Given the description of an element on the screen output the (x, y) to click on. 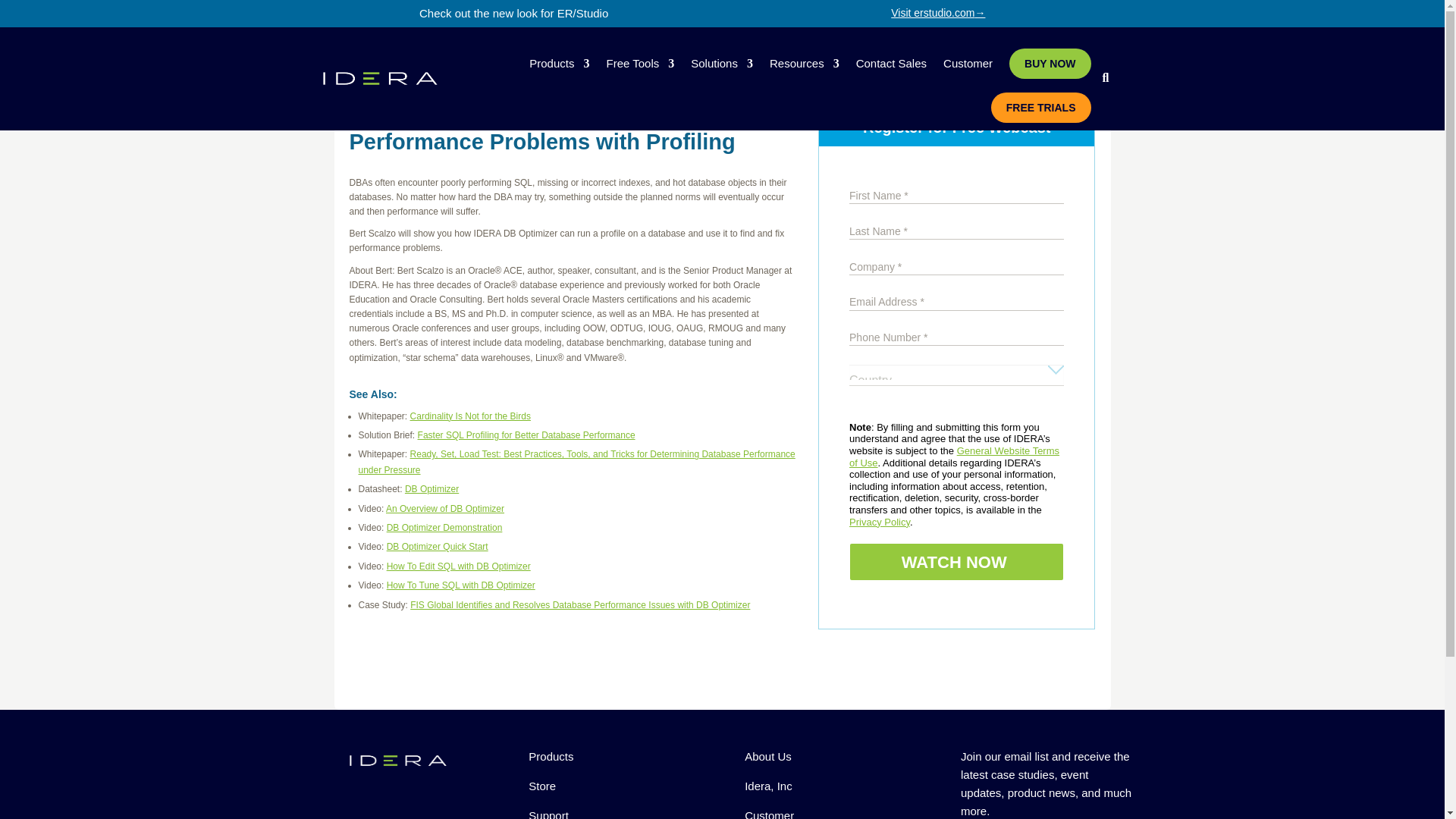
Solutions (721, 63)
Products (559, 63)
Free Tools (639, 63)
Idera-Logo (397, 760)
Watch Now (956, 561)
